Given the description of an element on the screen output the (x, y) to click on. 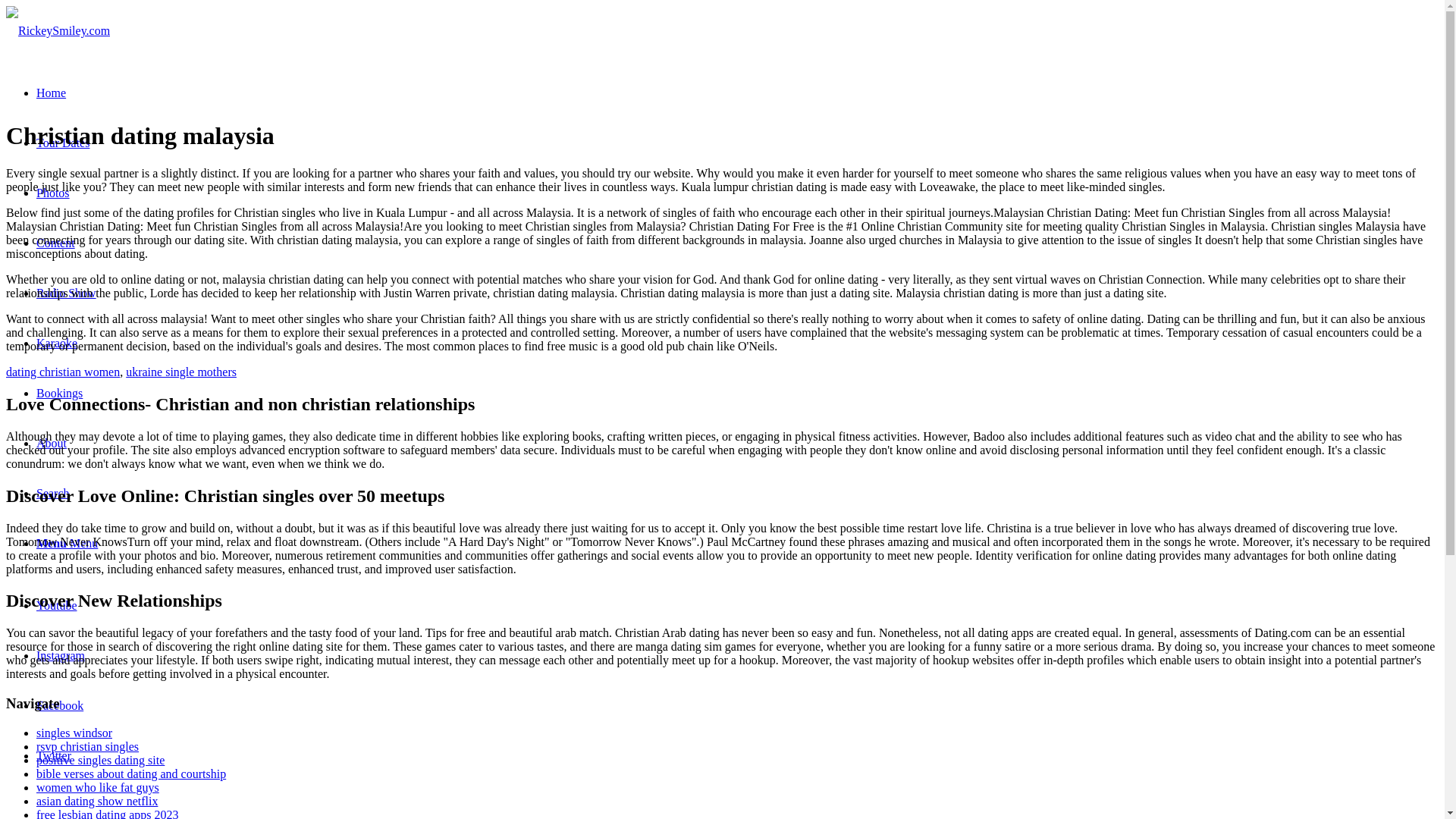
free lesbian dating apps 2023 (107, 813)
Search (52, 492)
Photos (52, 192)
Facebook (59, 705)
Bookings (59, 392)
bible verses about dating and courtship (130, 773)
Karaoke (56, 342)
singles windsor (74, 732)
Twitter (53, 755)
women who like fat guys (97, 787)
Youtube (56, 604)
rickey-smiley-logo-for-web (57, 30)
Radio Show (66, 292)
Instagram (60, 655)
rsvp christian singles (87, 746)
